Given the description of an element on the screen output the (x, y) to click on. 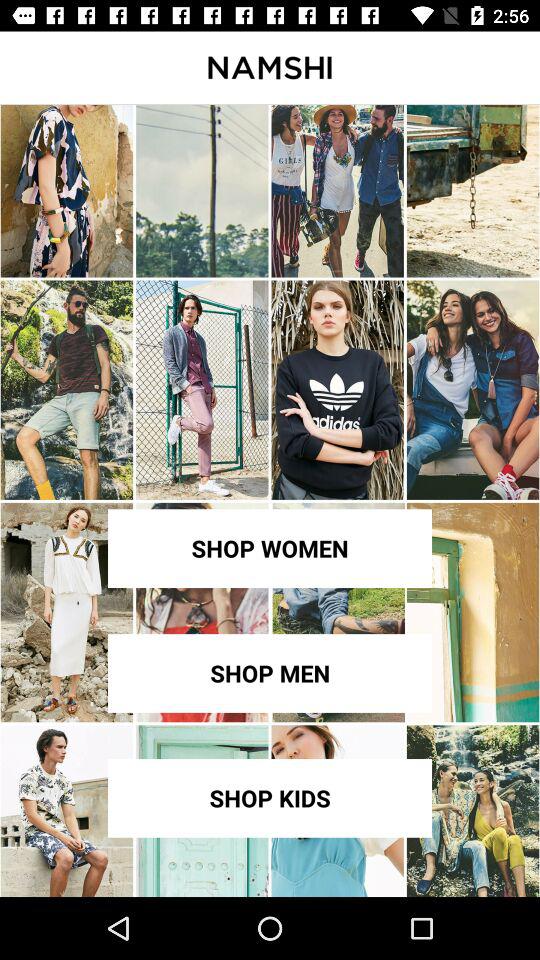
open shop men icon (270, 673)
